Given the description of an element on the screen output the (x, y) to click on. 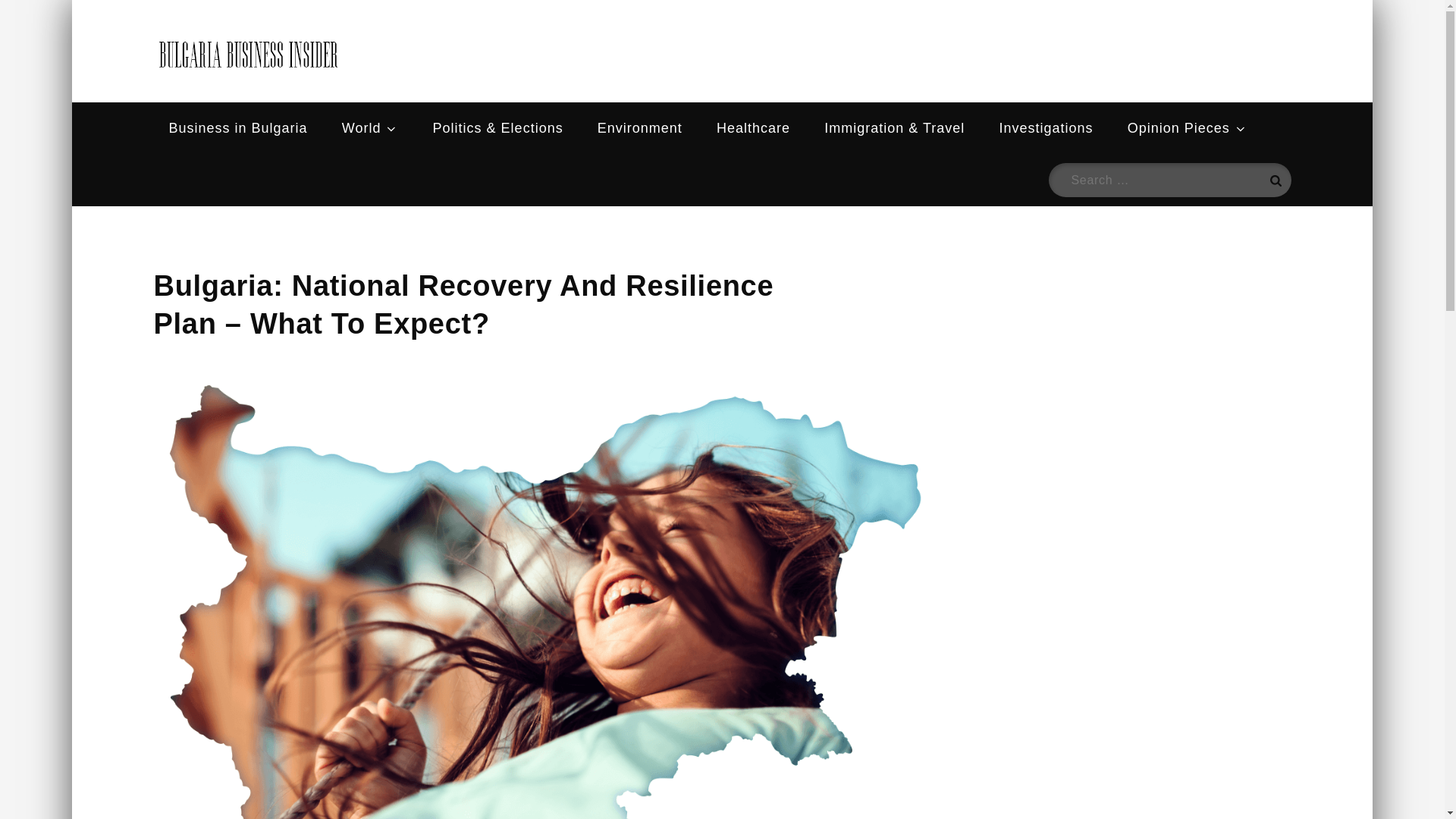
Search (1274, 179)
Opinion Pieces (1187, 127)
World (369, 127)
Healthcare (753, 127)
Bulgaria Business Insider (562, 68)
Business in Bulgaria (236, 127)
Investigations (1046, 127)
Environment (639, 127)
